Given the description of an element on the screen output the (x, y) to click on. 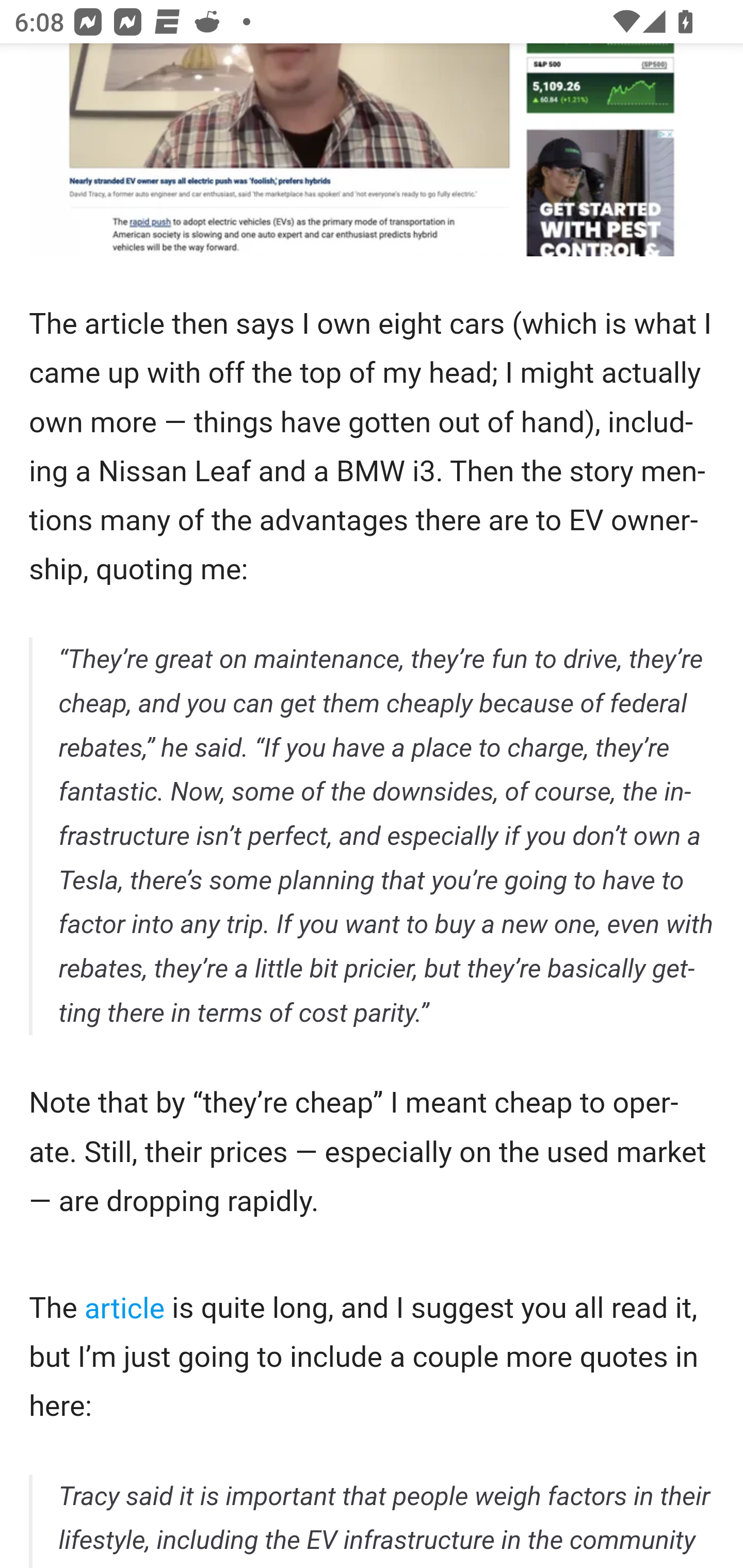
article (124, 1309)
